Given the description of an element on the screen output the (x, y) to click on. 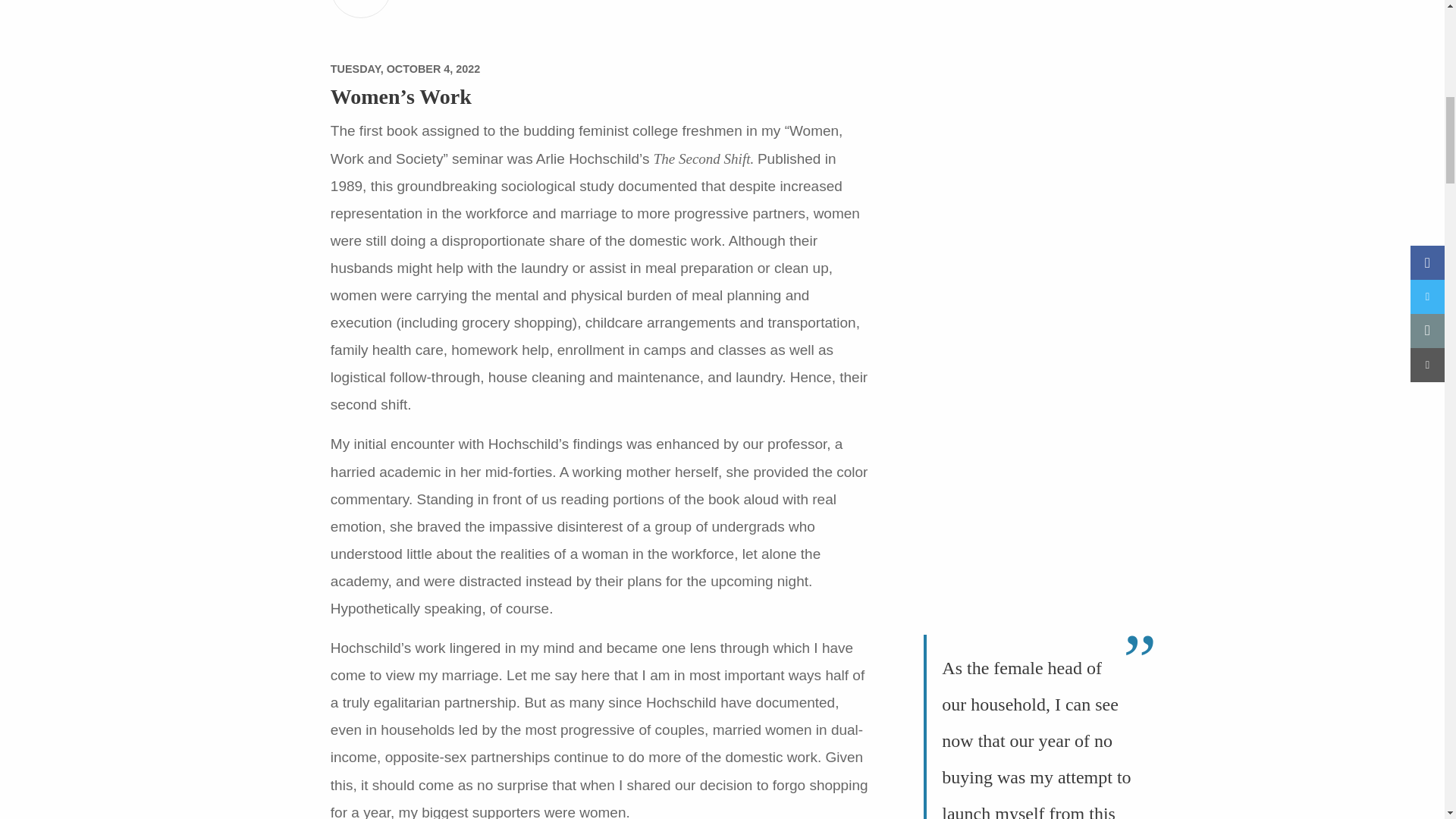
Link to author Susannah Q. Pratt (360, 9)
